Given the description of an element on the screen output the (x, y) to click on. 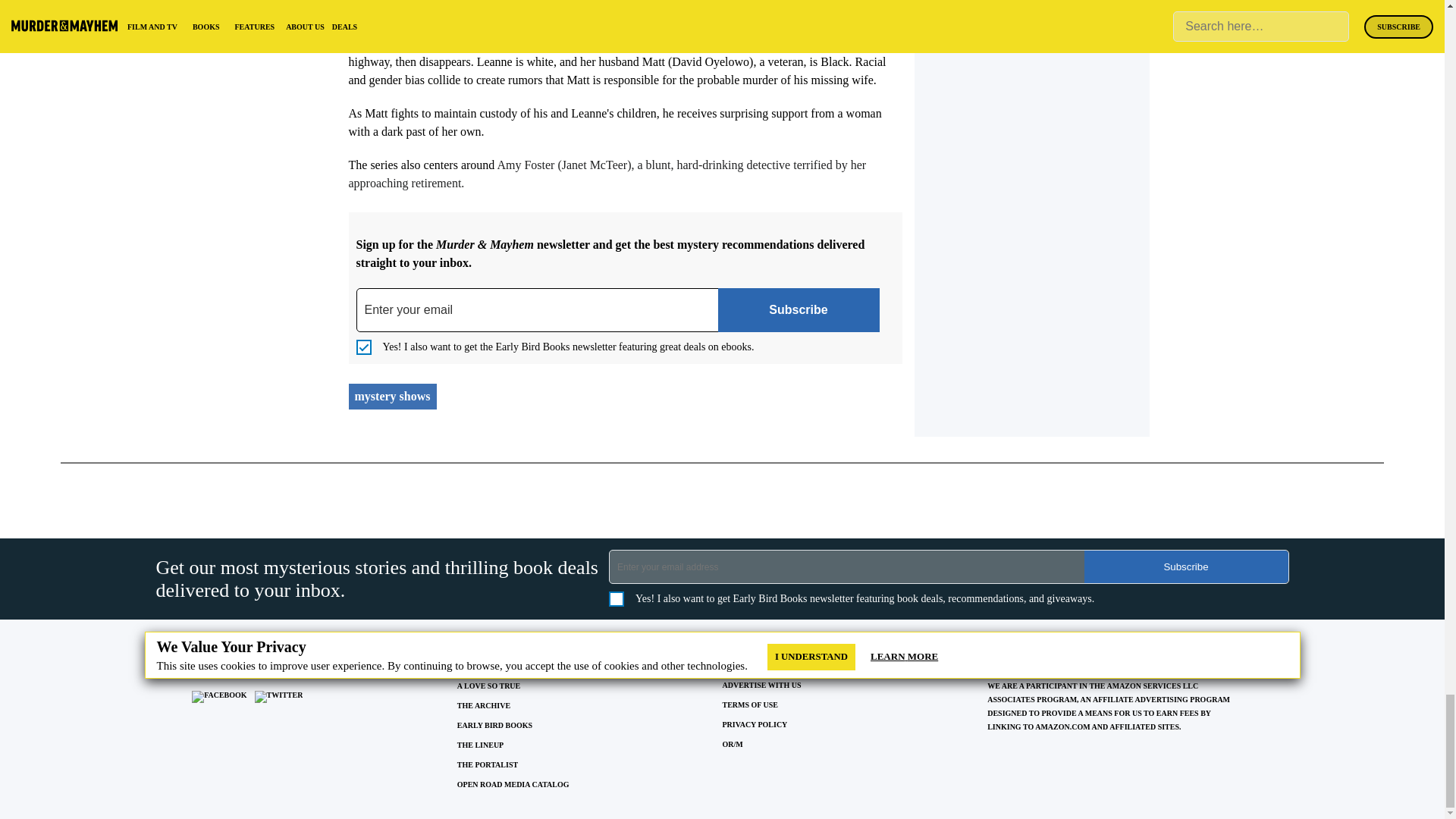
Subscribe (1186, 566)
Subscribe (798, 310)
Twitter (278, 696)
THE ARCHIVE (484, 705)
mystery shows (392, 395)
A LOVE SO TRUE (488, 685)
Facebook (219, 696)
